Given the description of an element on the screen output the (x, y) to click on. 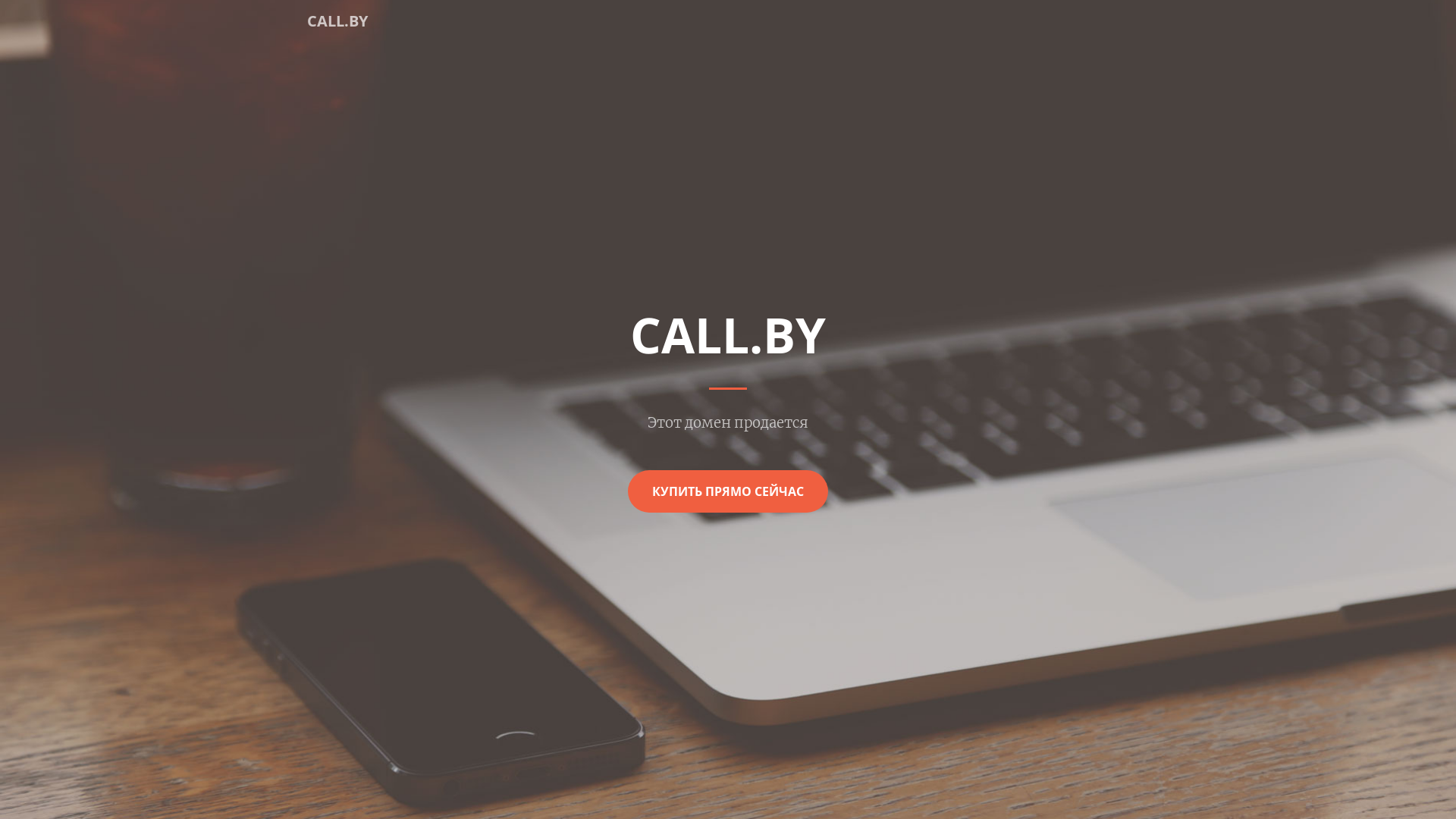
CALL.BY Element type: text (337, 21)
